Given the description of an element on the screen output the (x, y) to click on. 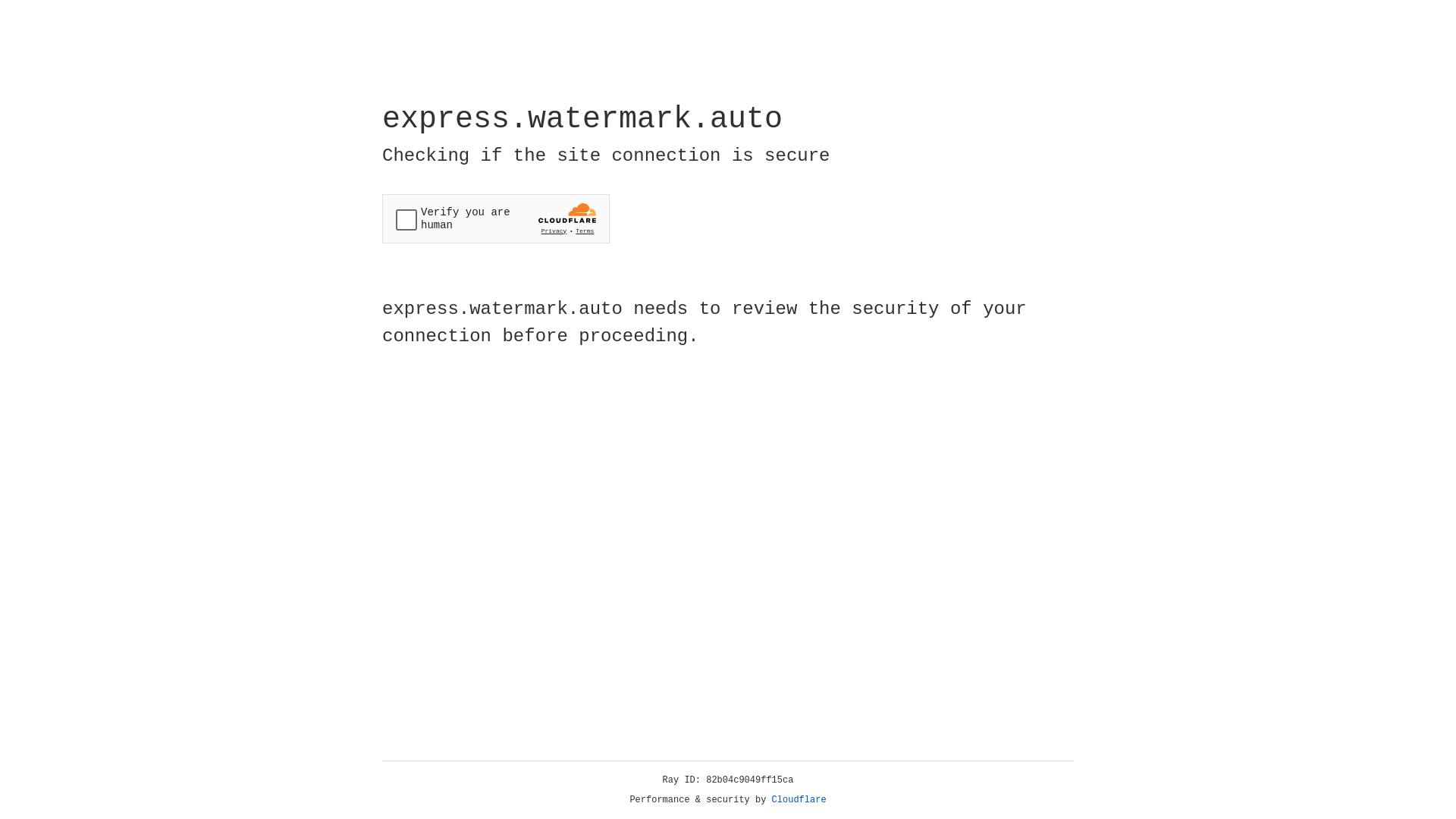
Widget containing a Cloudflare security challenge Element type: hover (495, 218)
Cloudflare Element type: text (798, 799)
